Given the description of an element on the screen output the (x, y) to click on. 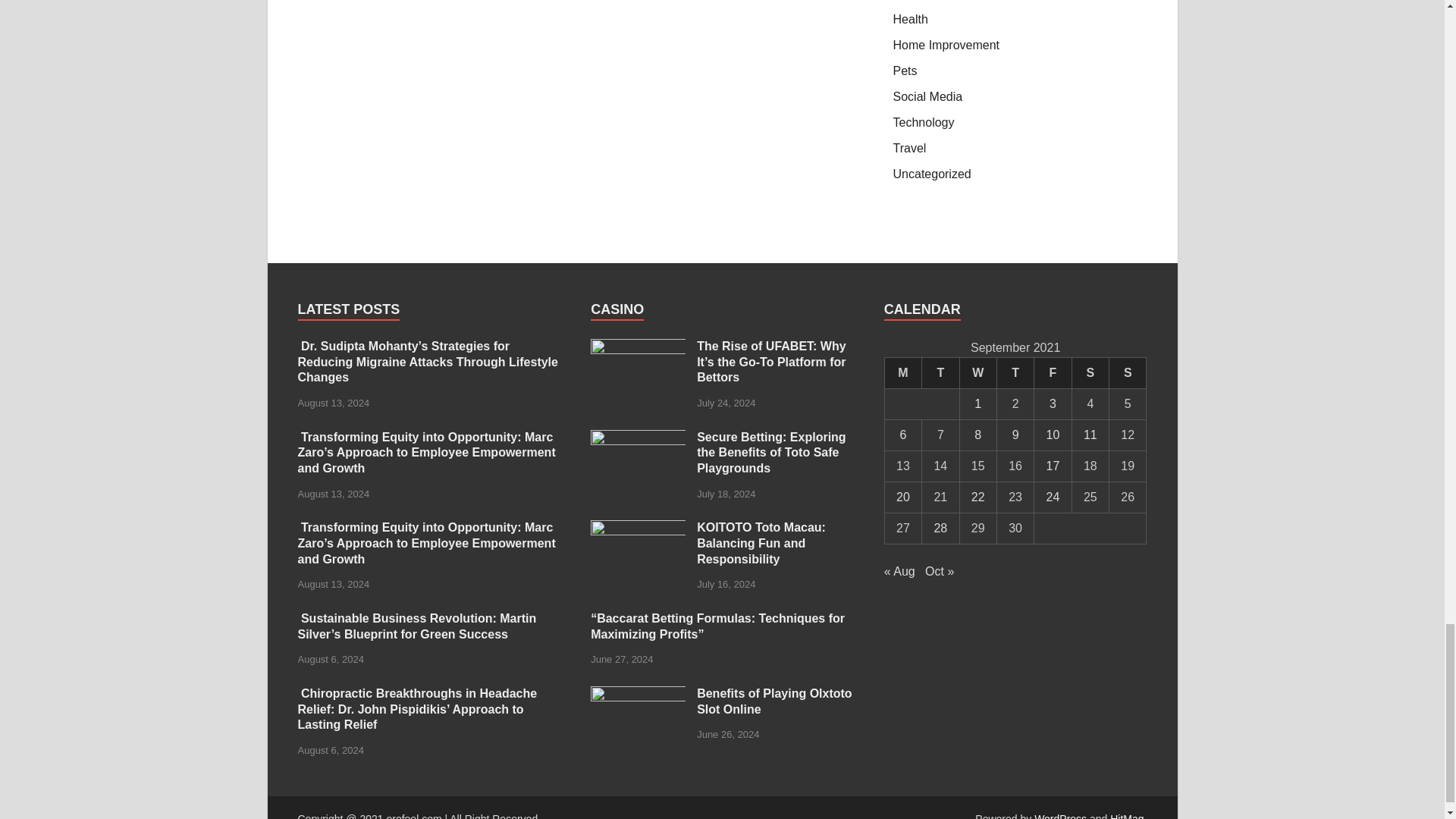
KOITOTO Toto Macau: Balancing Fun and Responsibility (638, 528)
Benefits of Playing Olxtoto Slot Online (638, 694)
Tuesday (940, 372)
Monday (902, 372)
